Given the description of an element on the screen output the (x, y) to click on. 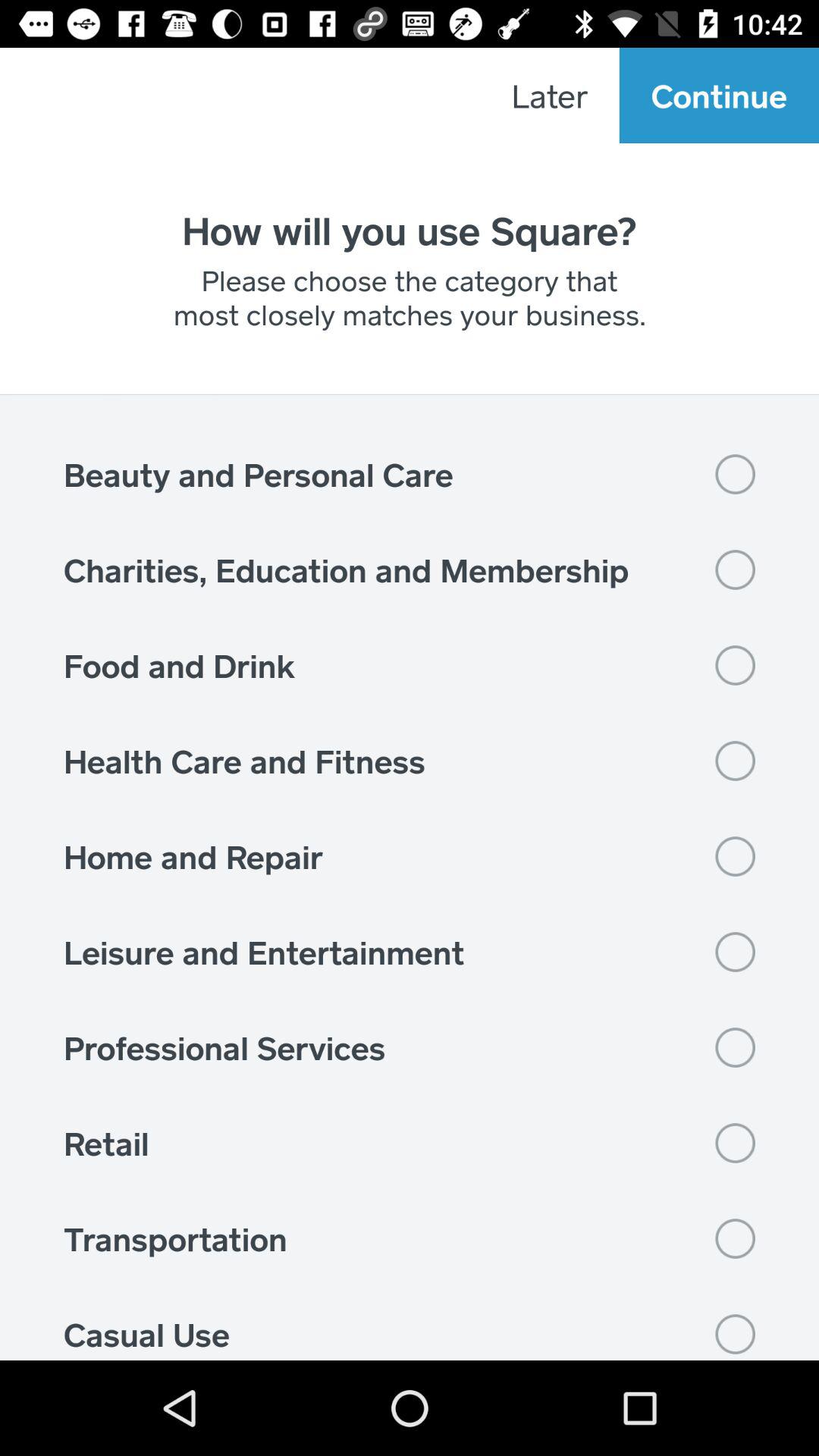
launch retail item (409, 1142)
